Given the description of an element on the screen output the (x, y) to click on. 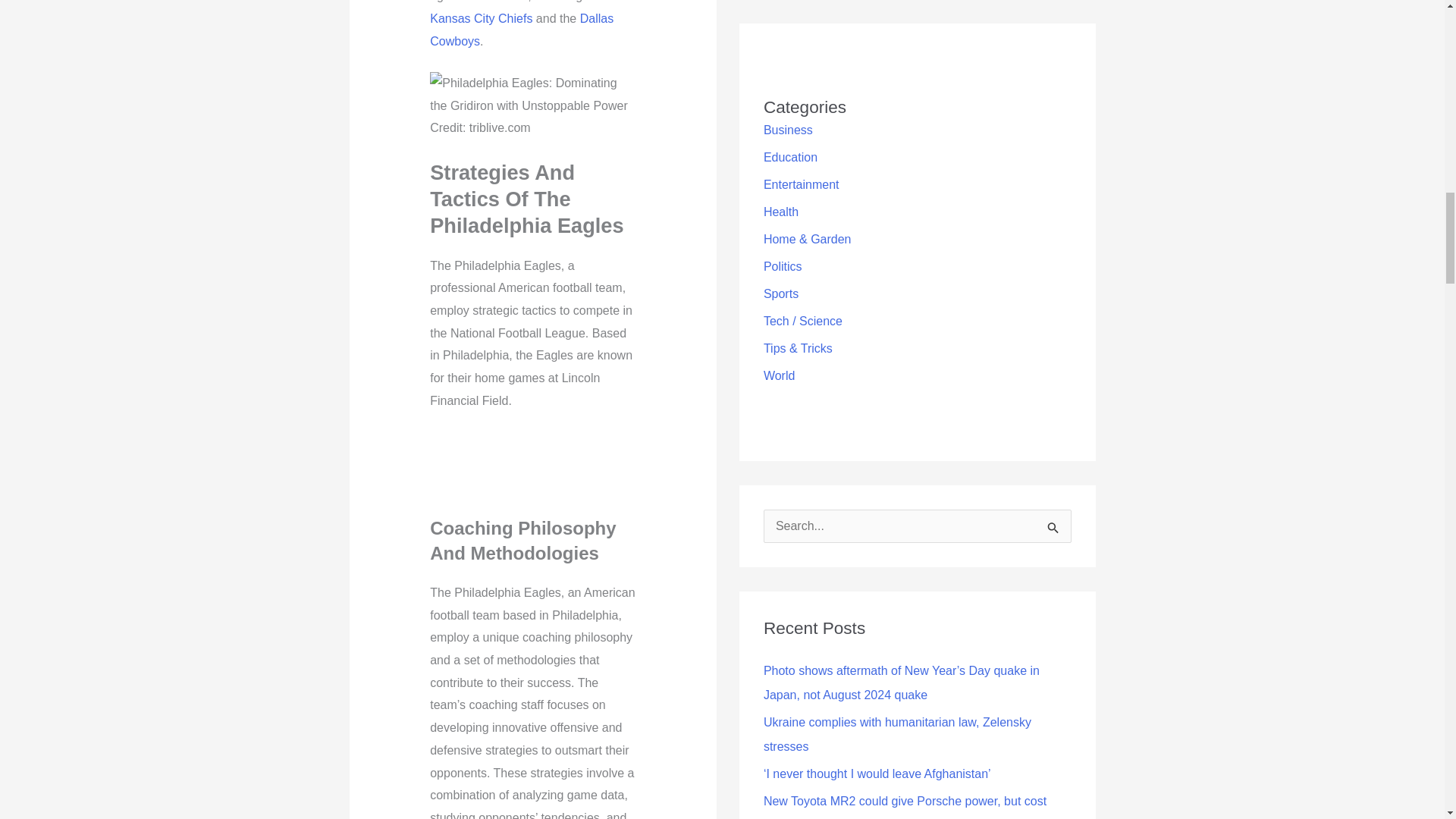
Dallas Cowboys (520, 29)
Kansas City Chiefs (480, 18)
